Given the description of an element on the screen output the (x, y) to click on. 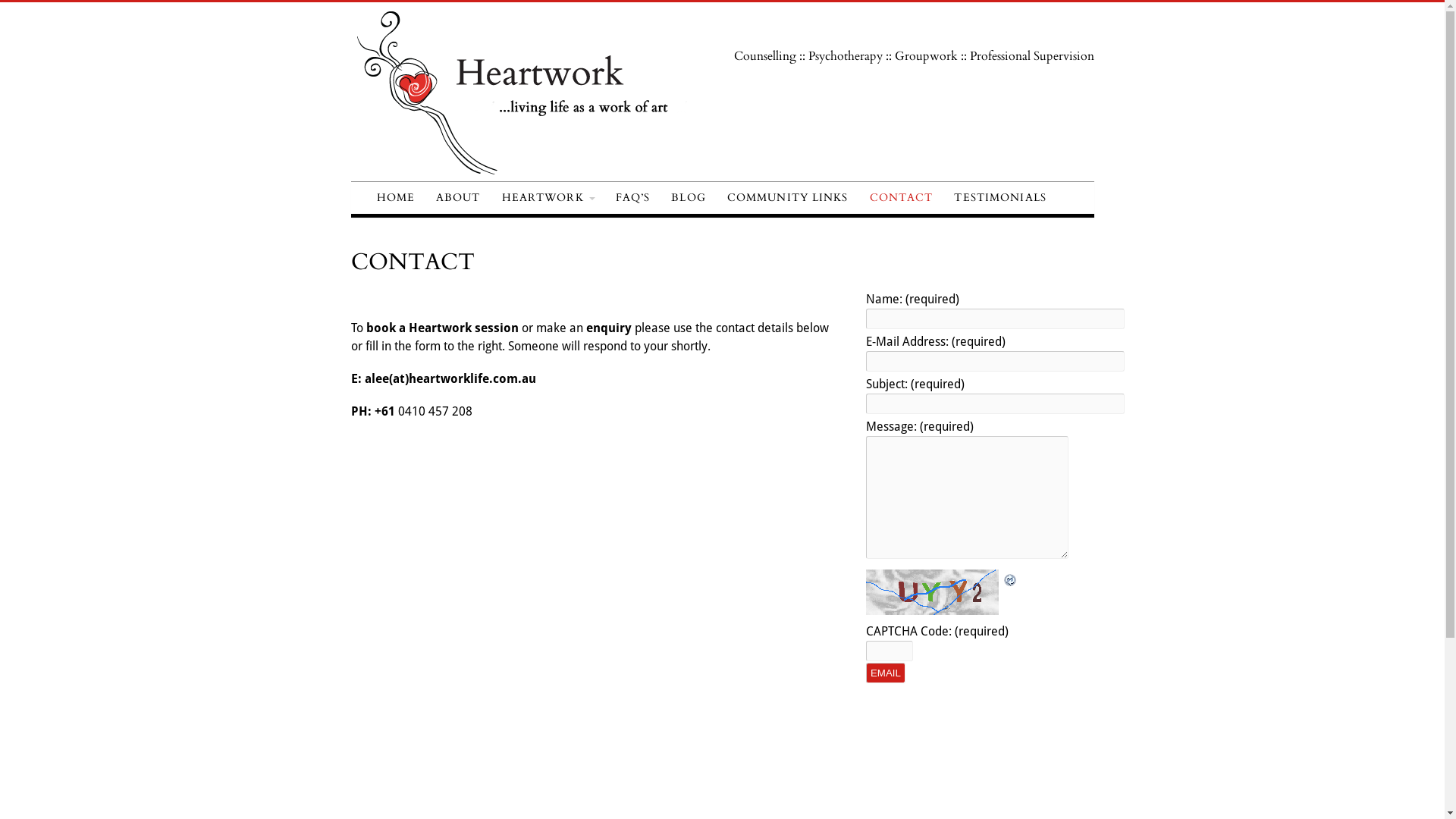
CONTACT Element type: text (901, 197)
ABOUT Element type: text (458, 197)
HOME Element type: text (394, 197)
EMAIL Element type: text (885, 672)
TESTIMONIALS Element type: text (999, 197)
Refresh Image Element type: hover (1010, 578)
BLOG Element type: text (687, 197)
Just another WordPress site Element type: hover (528, 171)
CAPTCHA Image Element type: hover (934, 592)
COMMUNITY LINKS Element type: text (787, 197)
HEARTWORK Element type: text (548, 197)
